Given the description of an element on the screen output the (x, y) to click on. 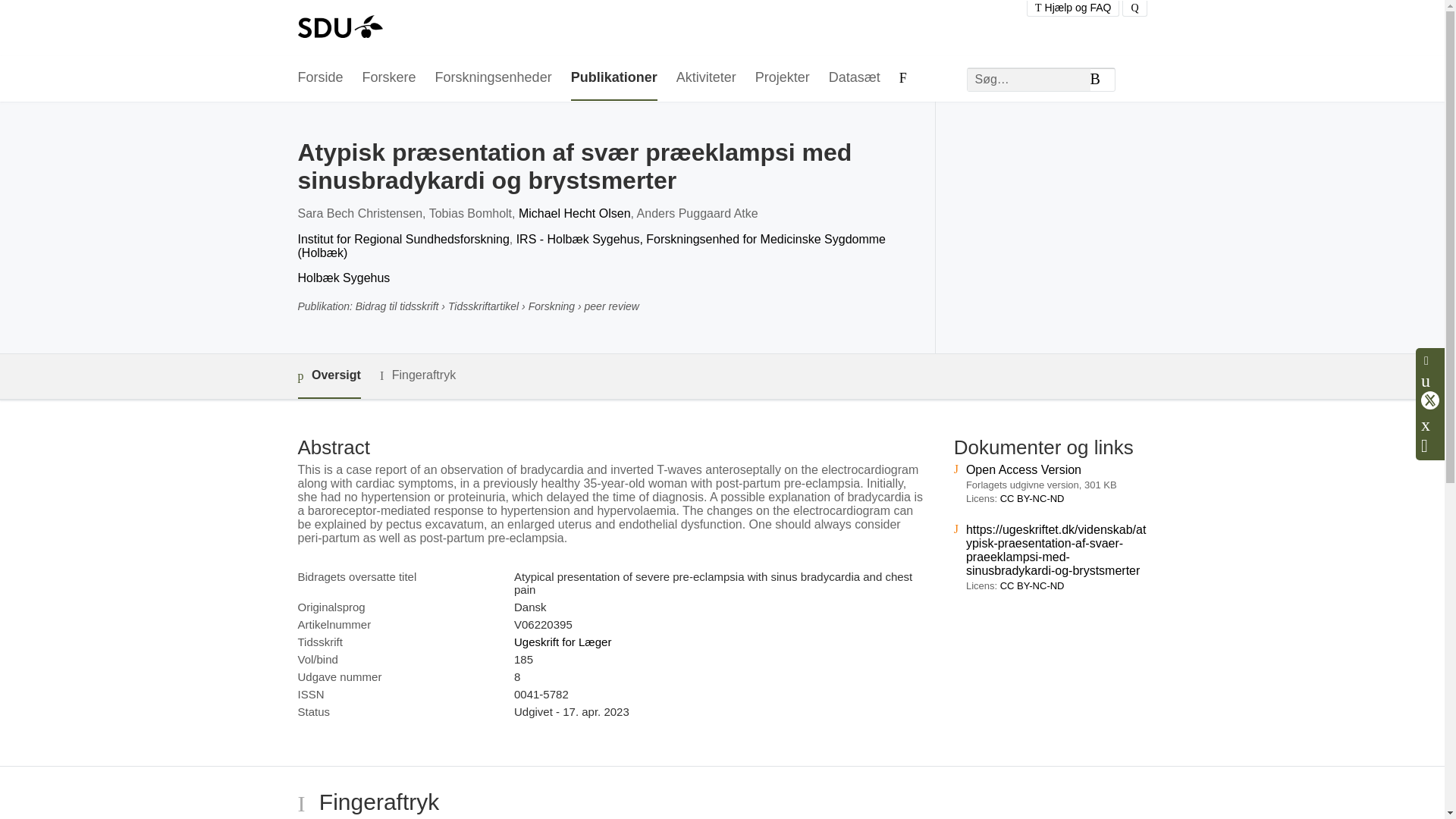
Projekter (782, 78)
CC BY-NC-ND (1032, 585)
Forskere (389, 78)
Oversigt (328, 375)
Institut for Regional Sundhedsforskning (402, 238)
CC BY-NC-ND (1032, 498)
Syddansk Universitet Forside (339, 27)
Fingeraftryk (417, 375)
Forside (319, 78)
Open Access Version (1023, 469)
Publikationer (614, 78)
Forskningsenheder (493, 78)
Michael Hecht Olsen (574, 213)
Aktiviteter (706, 78)
